Given the description of an element on the screen output the (x, y) to click on. 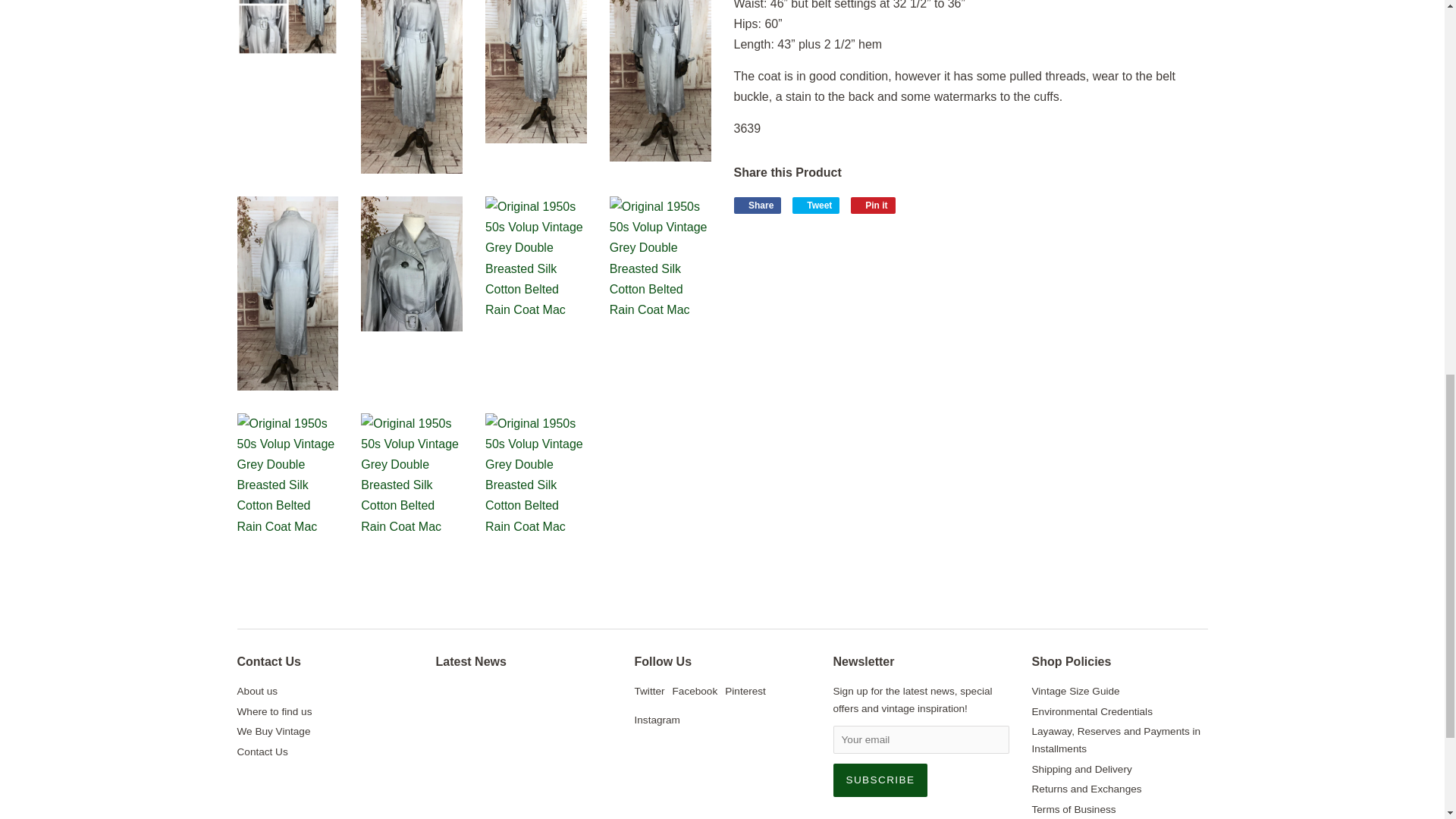
Black Sheep Antiques on Instagram (656, 719)
Pin on Pinterest (872, 205)
Subscribe (879, 779)
Black Sheep Antiques on Pinterest (745, 690)
Black Sheep Antiques on Facebook (694, 690)
Tweet on Twitter (816, 205)
Black Sheep Antiques on Twitter (648, 690)
Share on Facebook (757, 205)
